Given the description of an element on the screen output the (x, y) to click on. 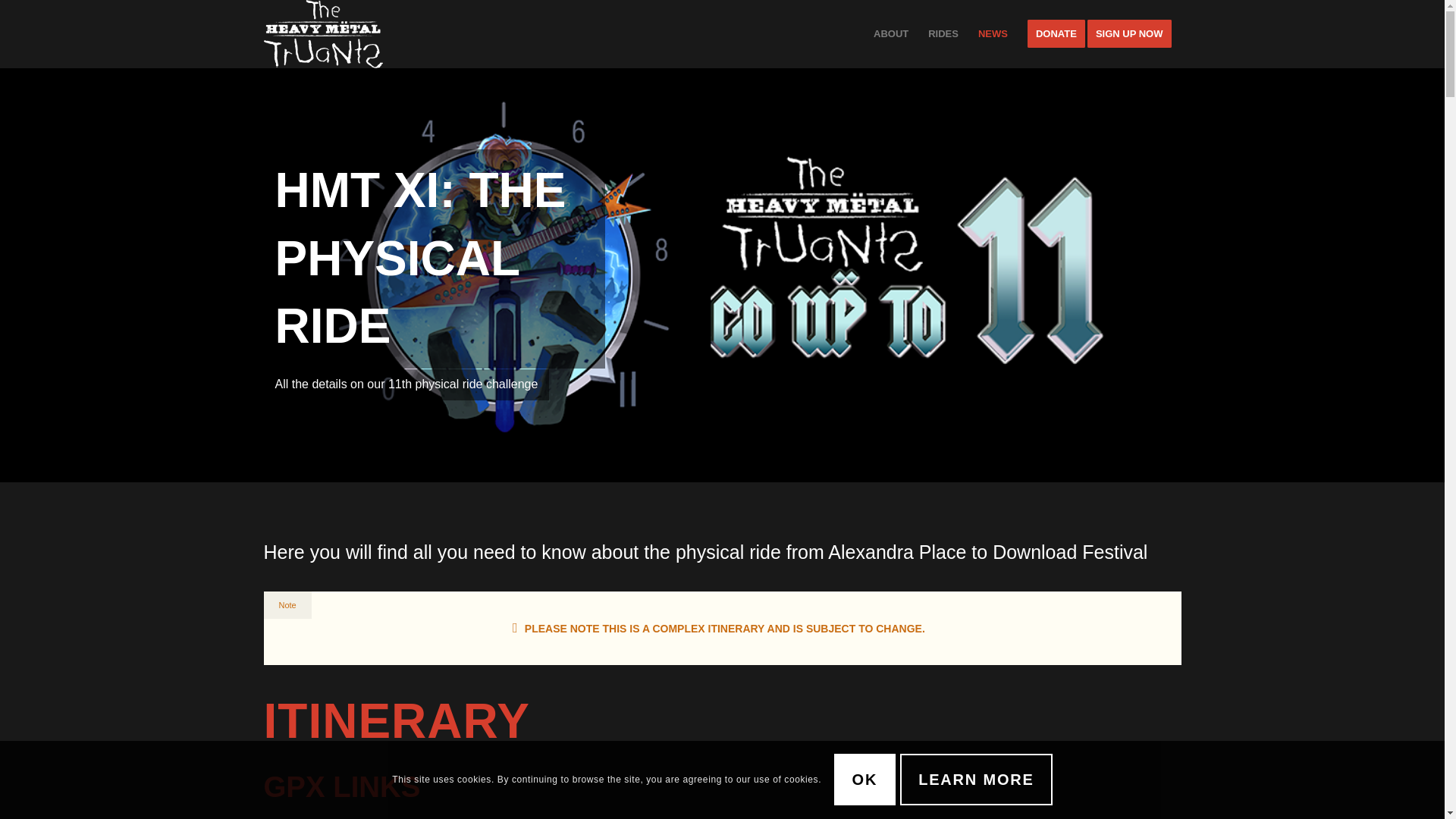
DONATE (1055, 33)
SIGN UP NOW (1133, 33)
LEARN MORE (975, 779)
OK (865, 779)
